Given the description of an element on the screen output the (x, y) to click on. 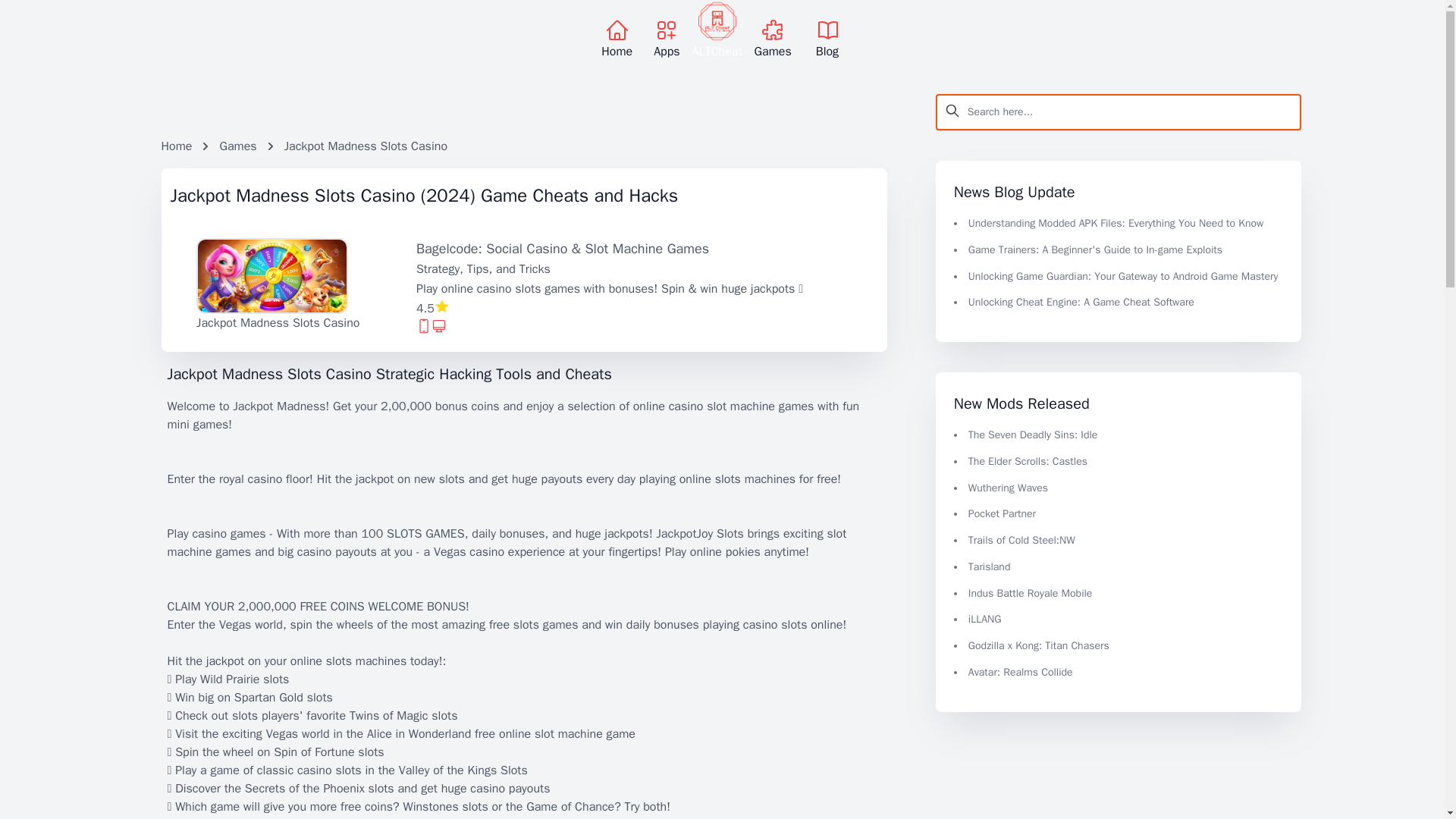
Game Trainers: A Beginner's Guide to In-game Exploits (1095, 249)
Indus Battle Royale Mobile (1030, 593)
The Elder Scrolls: Castles (1027, 461)
Pocket Partner (1001, 513)
The Seven Deadly Sins: Idle (1032, 434)
Trails of Cold Steel:NW (1021, 540)
iLLANG (984, 618)
Games (772, 39)
Games (237, 146)
